Given the description of an element on the screen output the (x, y) to click on. 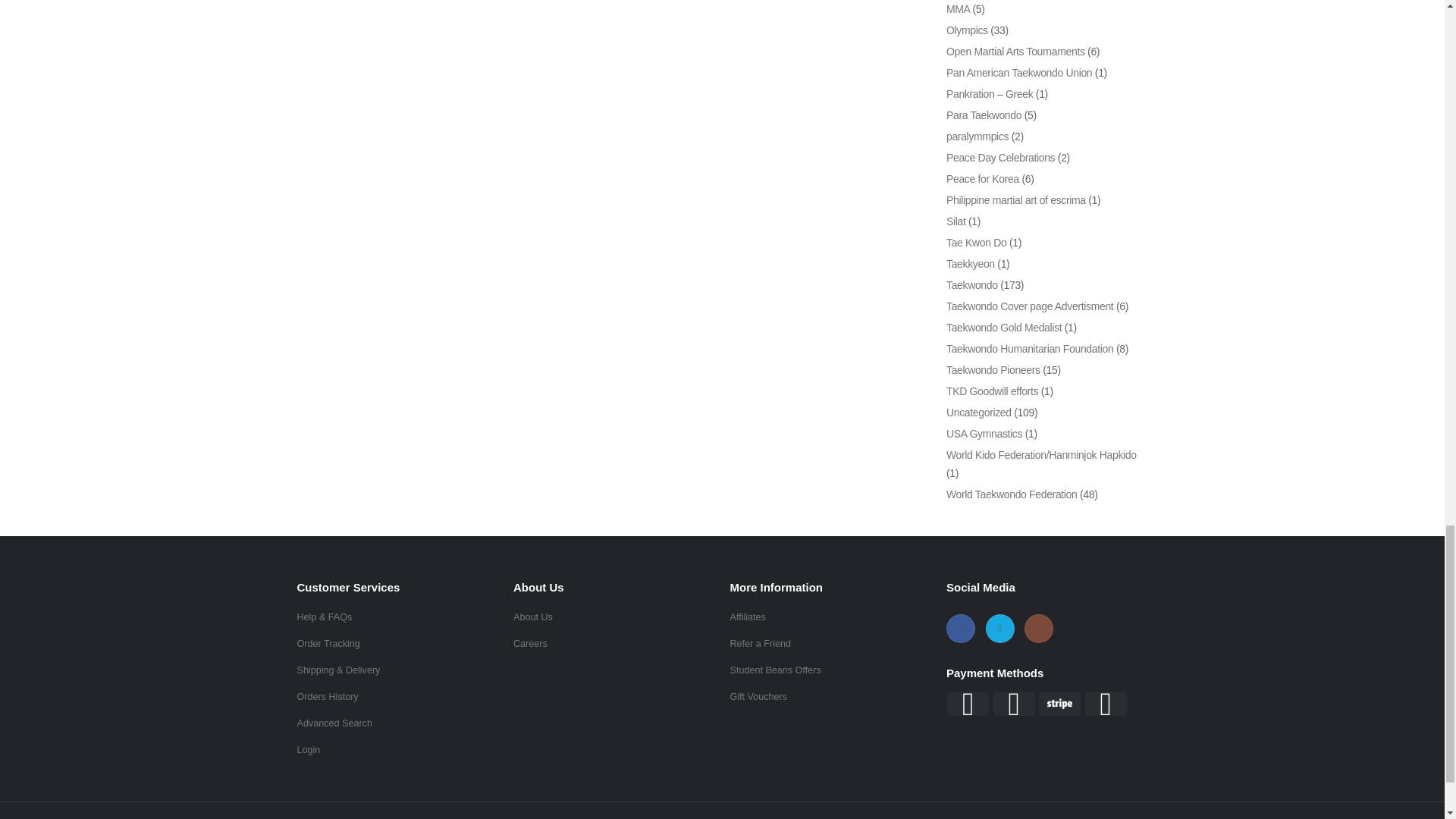
Instagram (1038, 628)
Twitter (999, 628)
Facebook (960, 628)
